Given the description of an element on the screen output the (x, y) to click on. 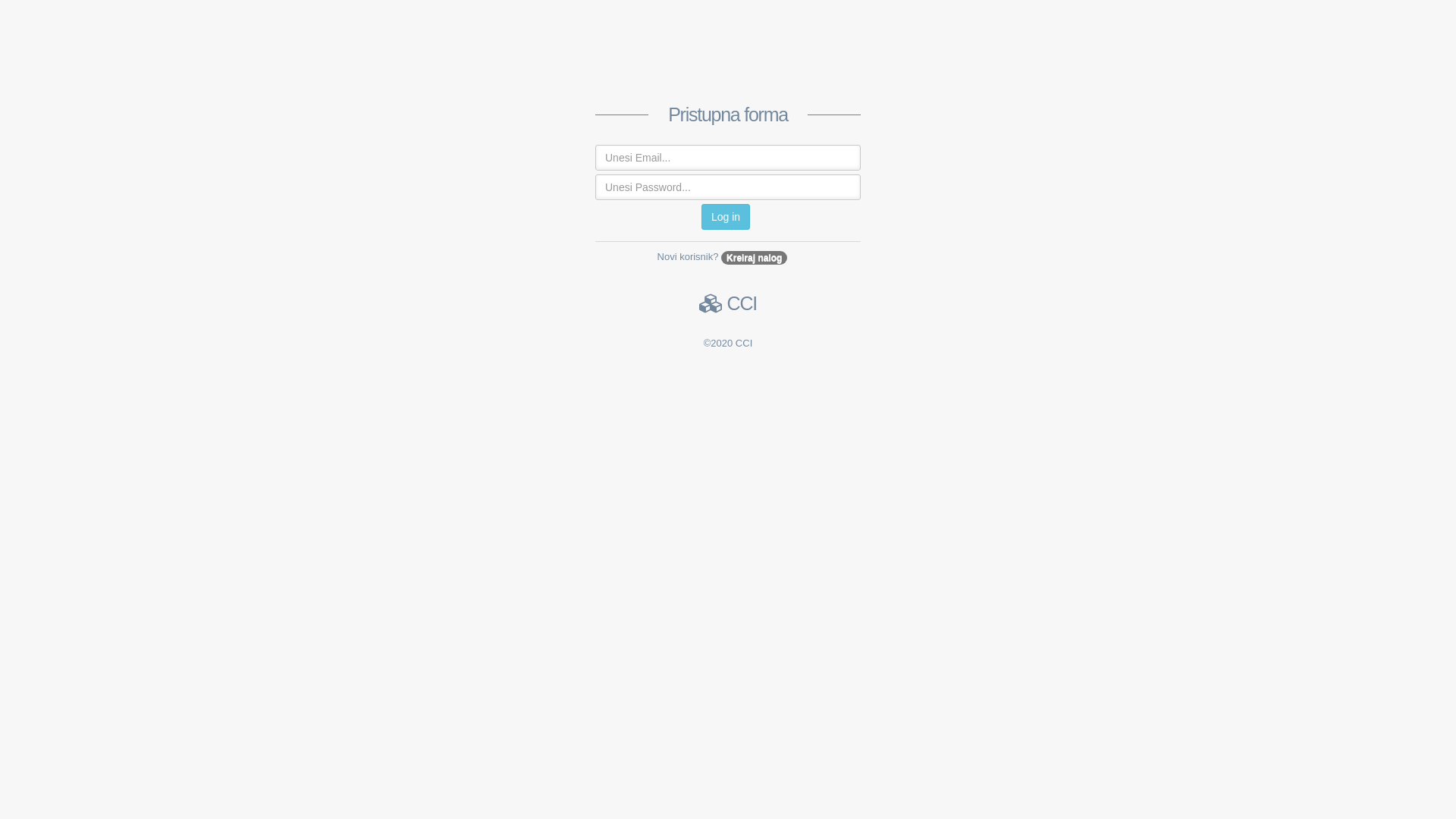
Kreiraj nalog Element type: text (754, 256)
 Log in  Element type: text (725, 216)
